Given the description of an element on the screen output the (x, y) to click on. 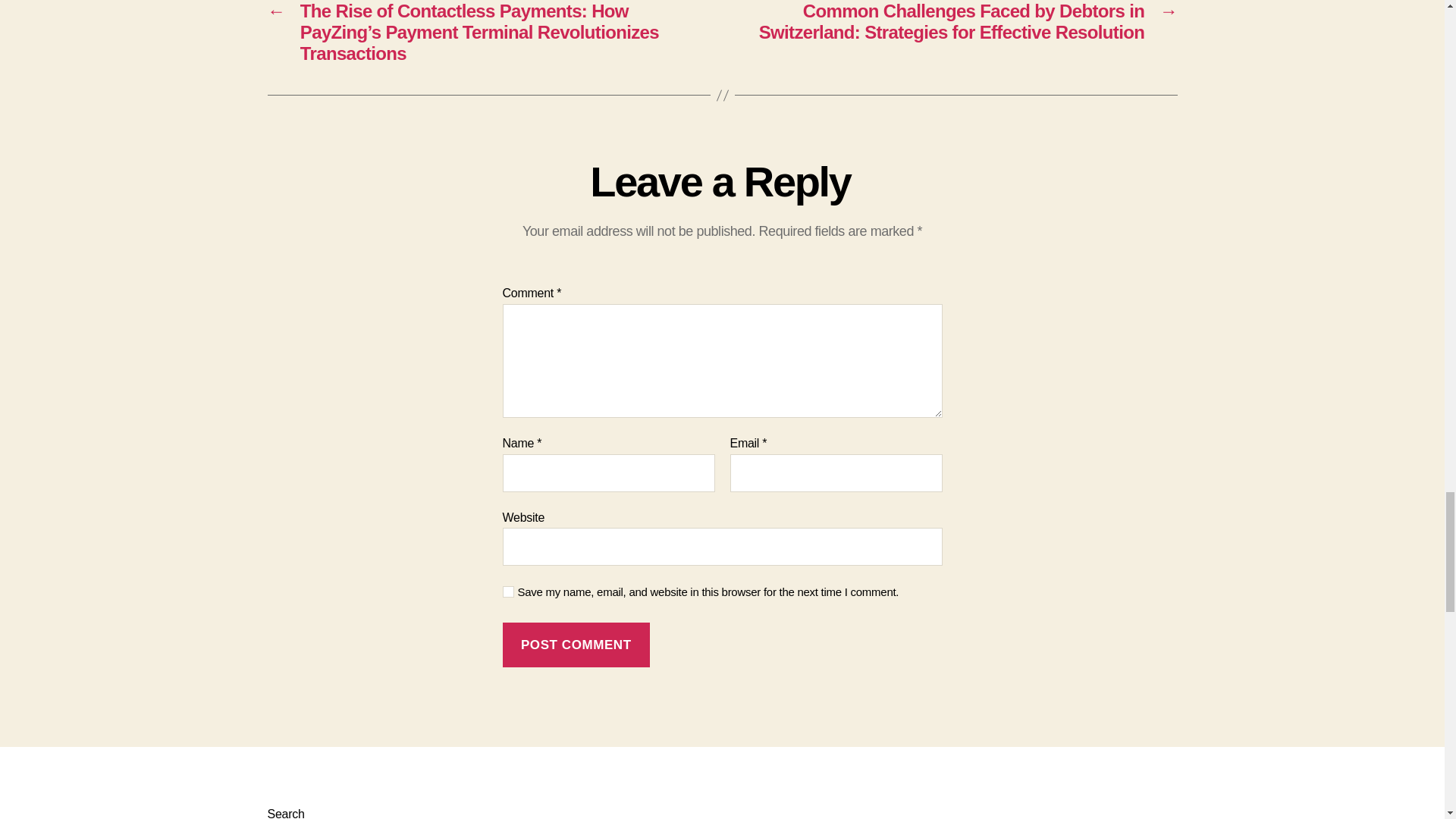
Post Comment (575, 644)
Post Comment (575, 644)
yes (507, 591)
